Given the description of an element on the screen output the (x, y) to click on. 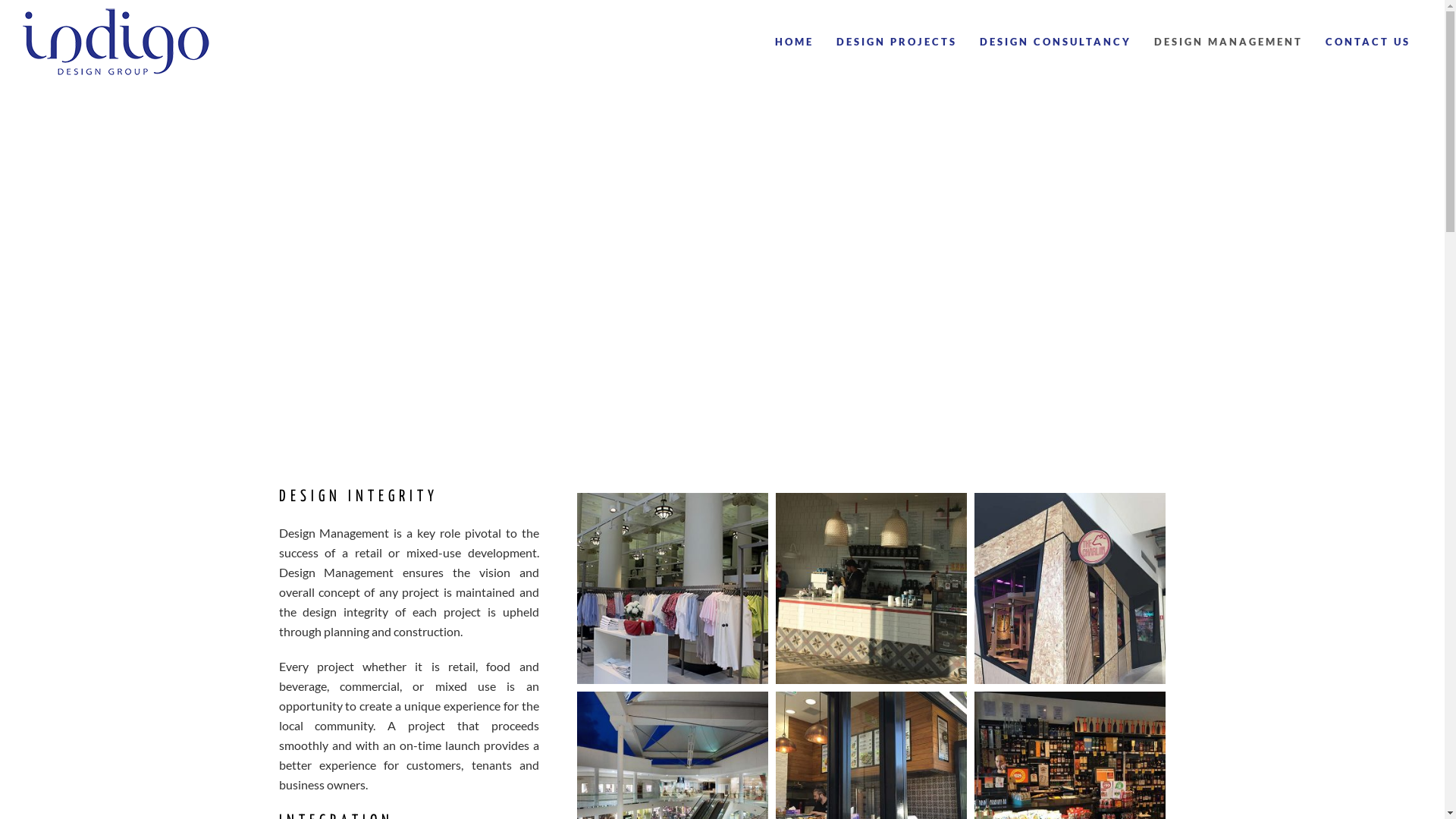
Indigo Design Group Element type: hover (116, 41)
DESIGN PROJECTS Element type: text (896, 41)
CONTACT US Element type: text (1367, 41)
DESIGN CONSULTANCY Element type: text (1055, 41)
HOME Element type: text (794, 41)
DESIGN MANAGEMENT Element type: text (1228, 41)
